Given the description of an element on the screen output the (x, y) to click on. 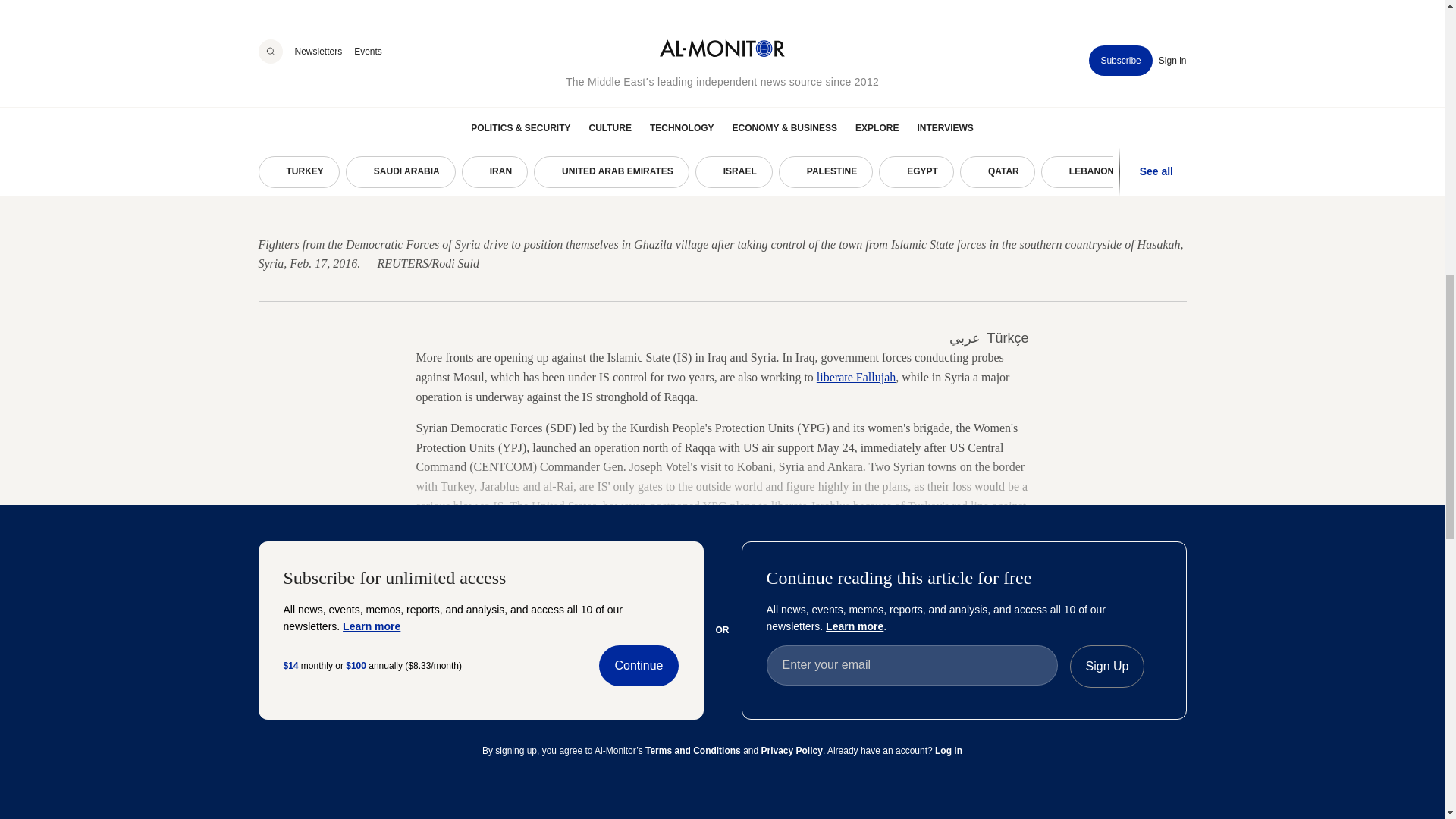
Related Articles (721, 626)
Related Articles (315, 626)
